Given the description of an element on the screen output the (x, y) to click on. 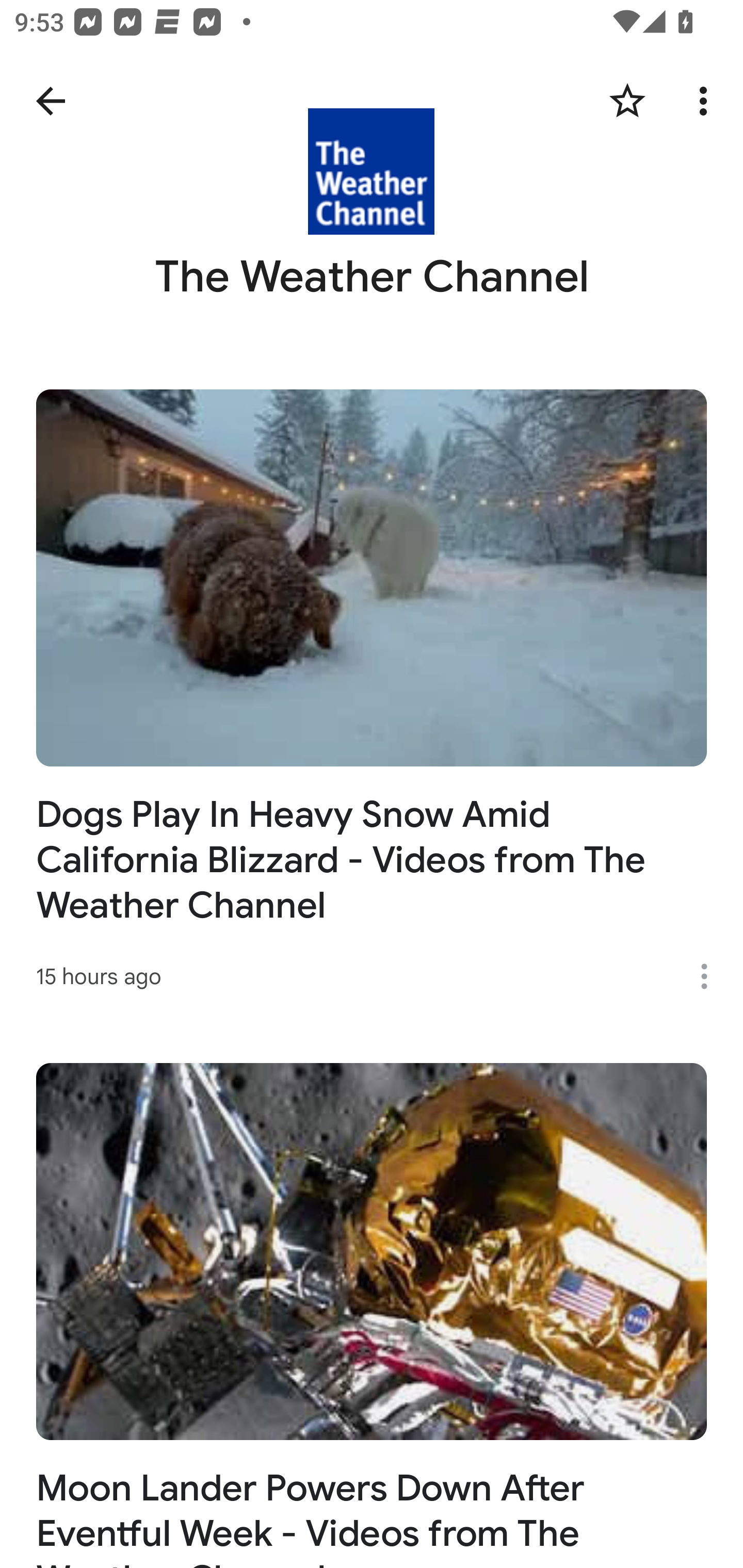
Navigate up (50, 101)
Follow (626, 101)
More options (706, 101)
More options (711, 975)
